Given the description of an element on the screen output the (x, y) to click on. 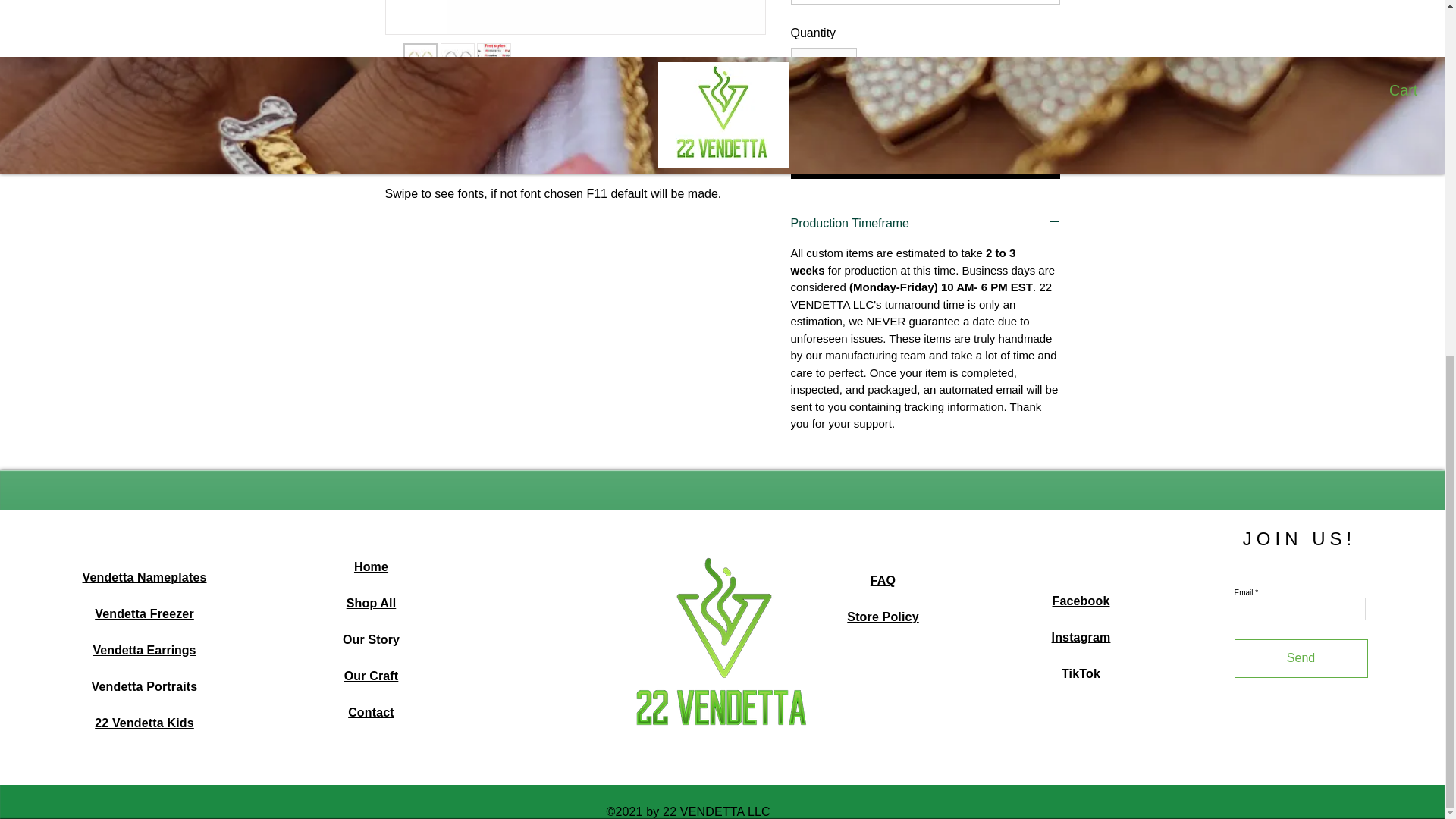
Buy Now (924, 162)
Our Craft (370, 675)
1 (823, 64)
Send (1301, 658)
Vendetta Earrings (144, 649)
Home (370, 566)
Vendetta Freezer (143, 613)
FAQ (882, 580)
Vendetta Nameplates (143, 576)
Shop All (371, 603)
TikTok (1080, 673)
Production Timeframe (924, 223)
22 Vendetta Kids (143, 722)
Our Story (370, 639)
Facebook (1080, 600)
